Given the description of an element on the screen output the (x, y) to click on. 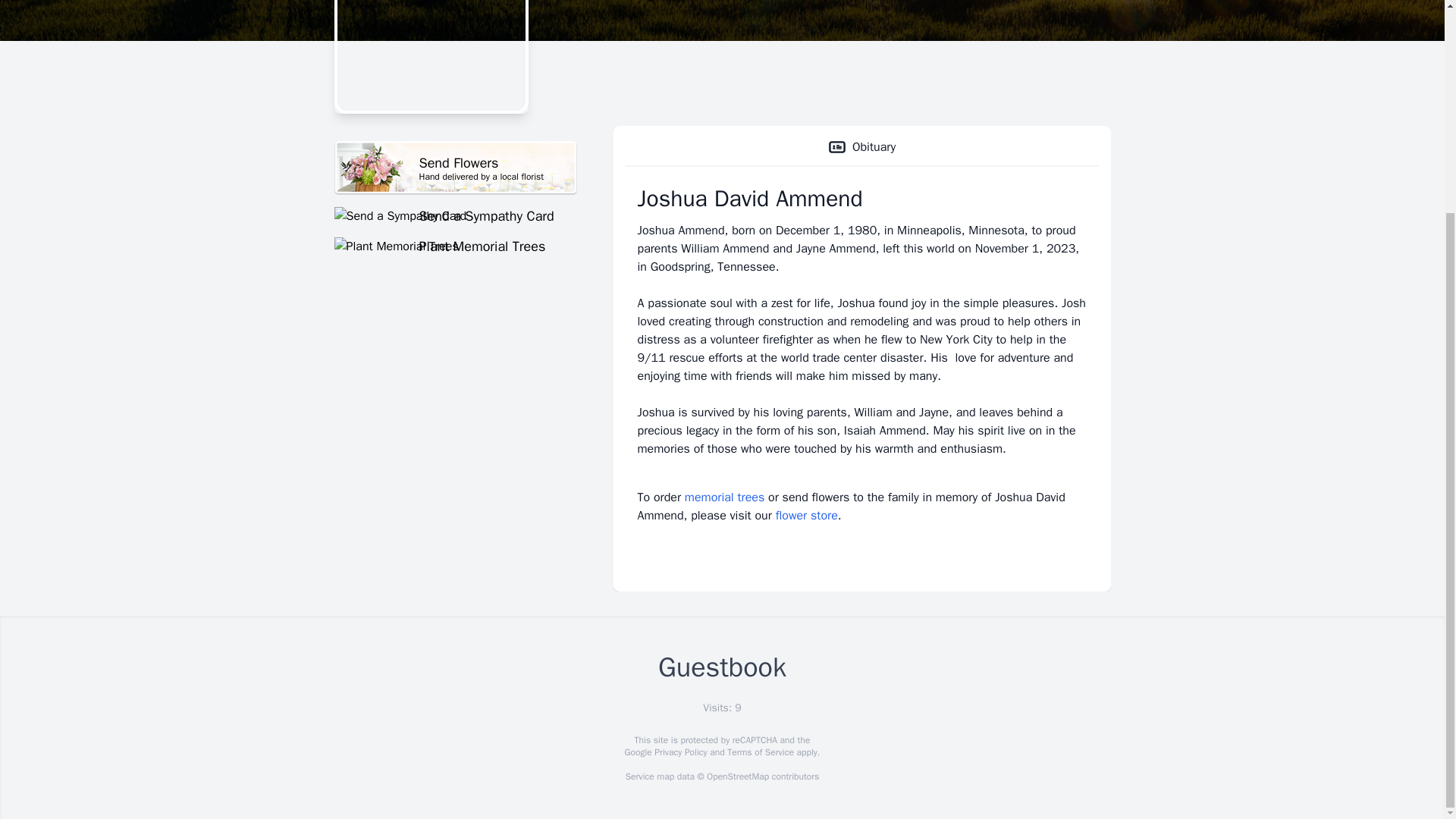
Send a Sympathy Card (454, 216)
Obituary (454, 167)
memorial trees (860, 147)
Terms of Service (724, 497)
OpenStreetMap (759, 752)
Privacy Policy (737, 776)
flower store (679, 752)
Plant Memorial Trees (807, 515)
